Given the description of an element on the screen output the (x, y) to click on. 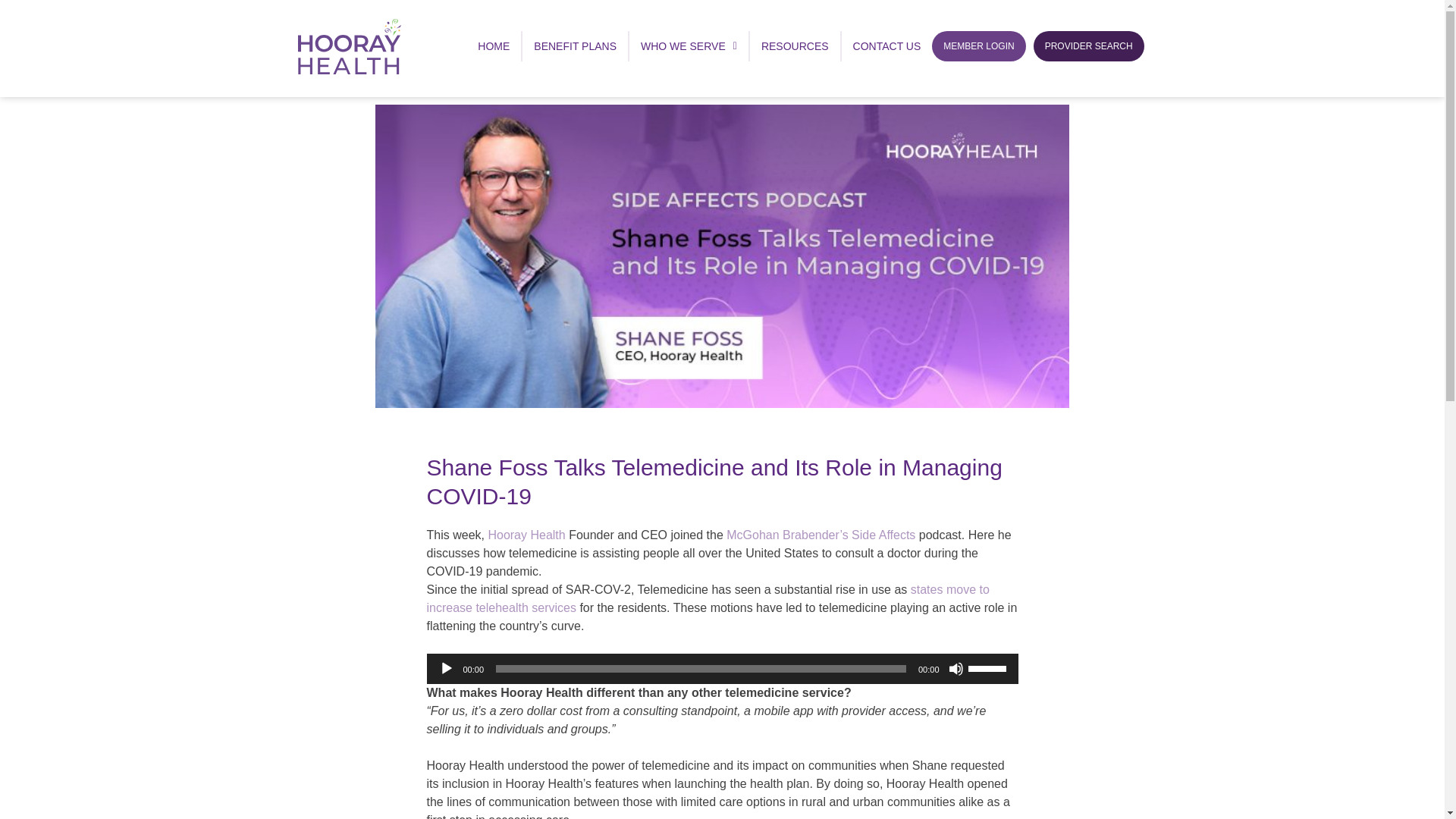
WHO WE SERVE (688, 46)
BENEFIT PLANS (574, 46)
MEMBER LOGIN (978, 46)
Play (445, 668)
HOME (493, 46)
Search (1356, 428)
PROVIDER SEARCH (1088, 46)
CONTACT US (887, 46)
RESOURCES (794, 46)
Mute (954, 668)
